Given the description of an element on the screen output the (x, y) to click on. 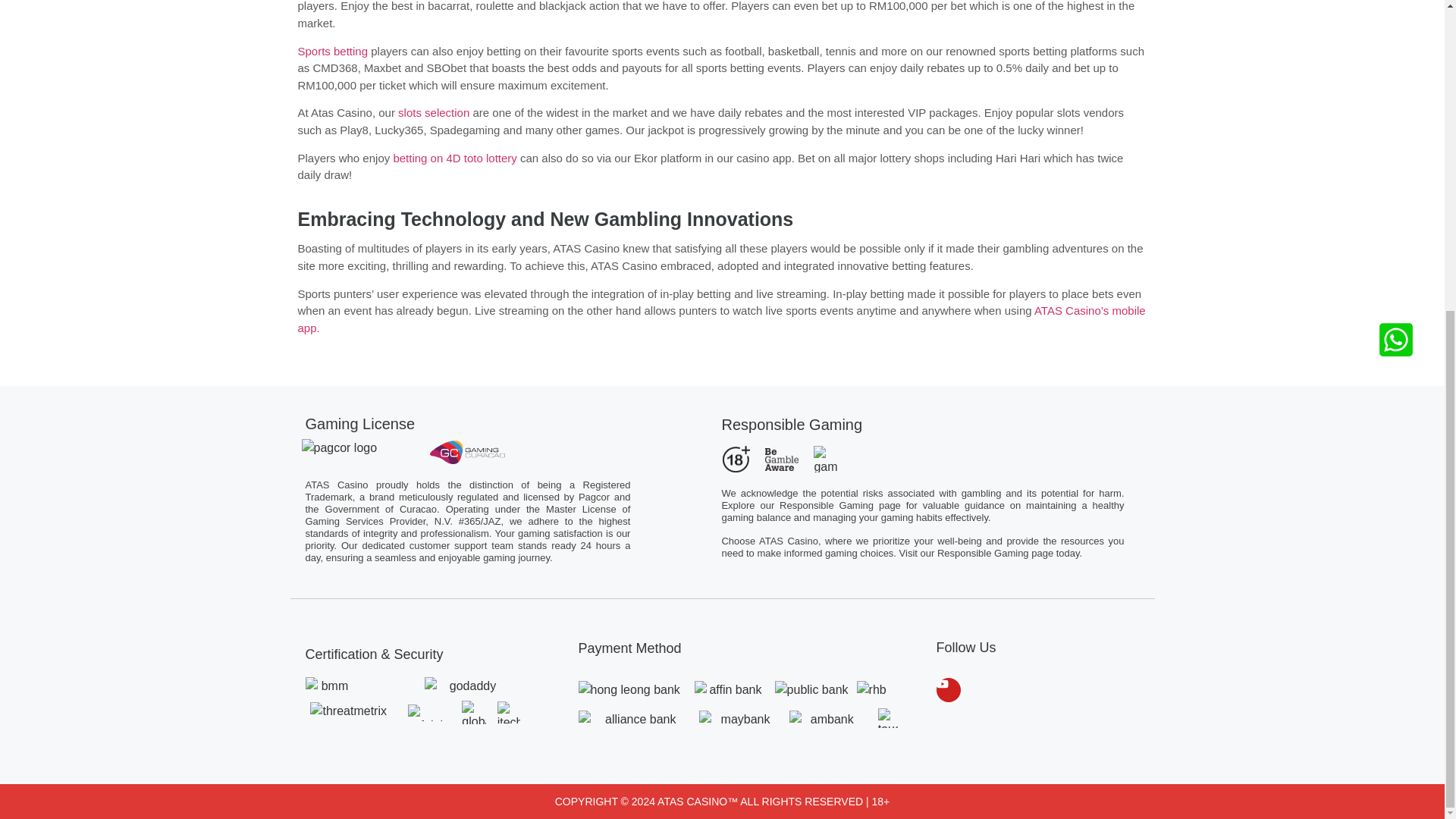
Sports betting (332, 51)
betting on 4D toto lottery (454, 157)
slots selection (432, 112)
